Given the description of an element on the screen output the (x, y) to click on. 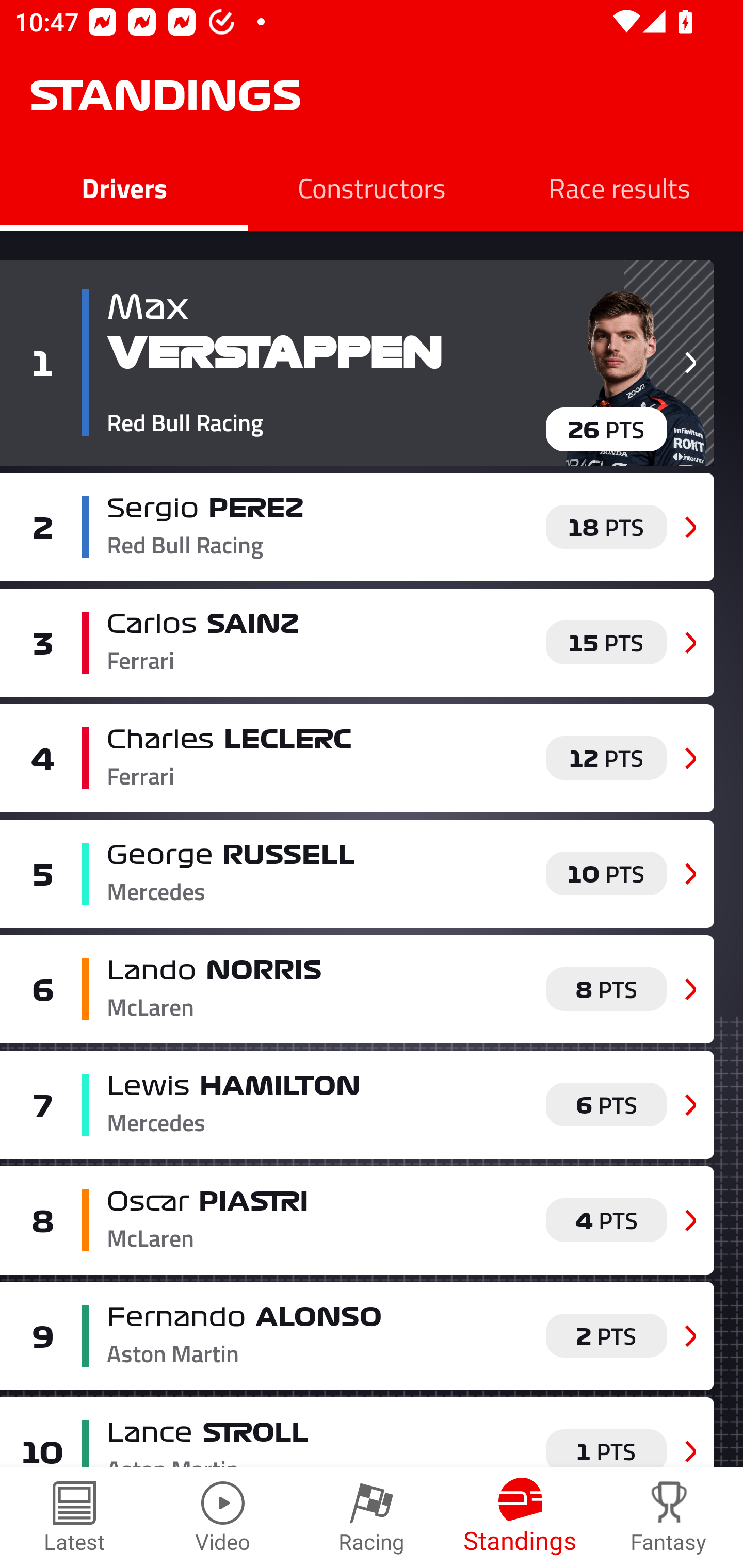
Constructors (371, 187)
Race results (619, 187)
1 Max VERSTAPPEN Red Bull Racing 26 PTS (357, 362)
2 Sergio PEREZ Red Bull Racing 18 PTS (357, 527)
3 Carlos SAINZ Ferrari 15 PTS (357, 642)
4 Charles LECLERC Ferrari 12 PTS (357, 758)
5 George RUSSELL Mercedes 10 PTS (357, 874)
6 Lando NORRIS McLaren 8 PTS (357, 988)
7 Lewis HAMILTON Mercedes 6 PTS (357, 1104)
8 Oscar PIASTRI McLaren 4 PTS (357, 1220)
9 Fernando ALONSO Aston Martin 2 PTS (357, 1335)
10 Lance STROLL Aston Martin 1 PTS (357, 1432)
Latest (74, 1517)
Video (222, 1517)
Racing (371, 1517)
Fantasy (668, 1517)
